Given the description of an element on the screen output the (x, y) to click on. 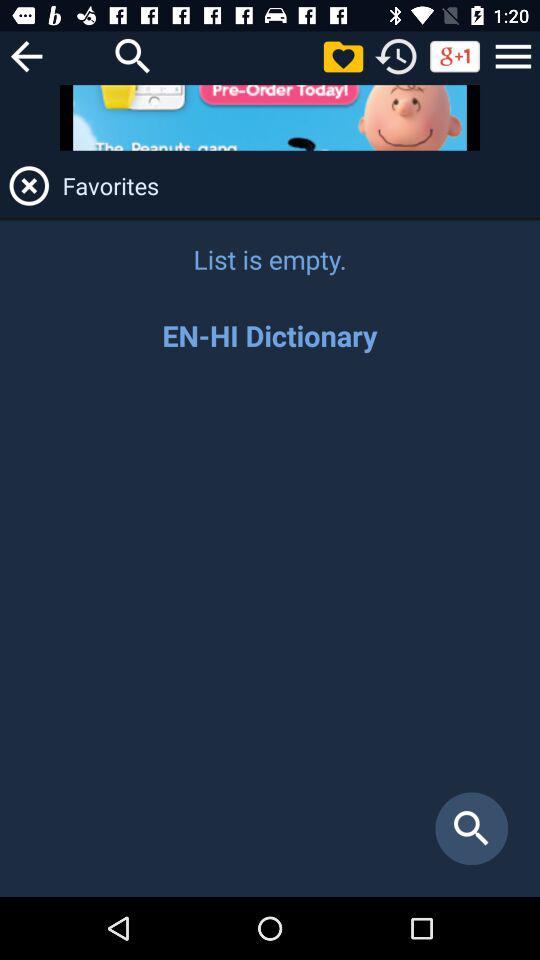
enter search (270, 635)
